Given the description of an element on the screen output the (x, y) to click on. 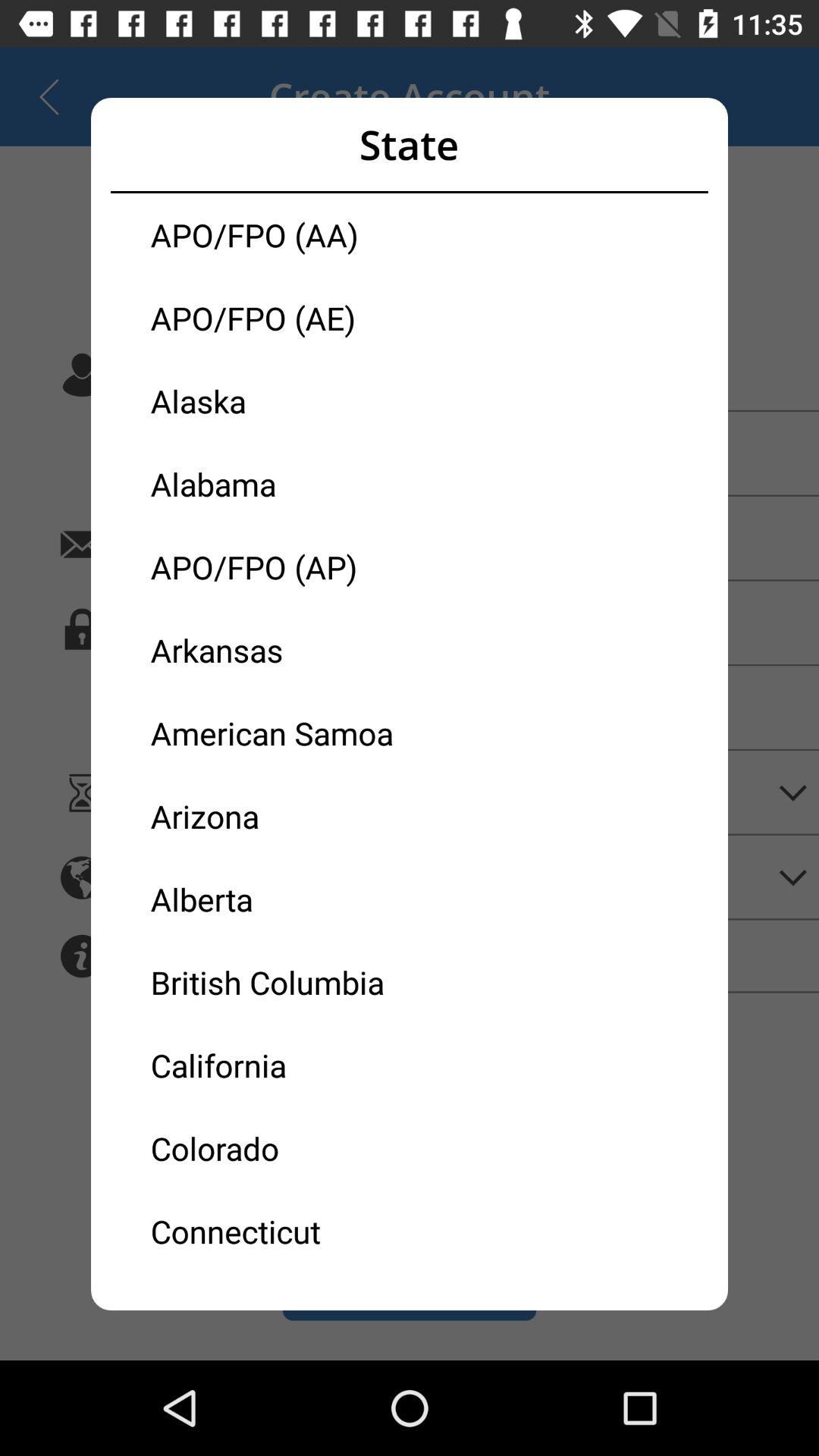
flip until colorado item (279, 1147)
